Given the description of an element on the screen output the (x, y) to click on. 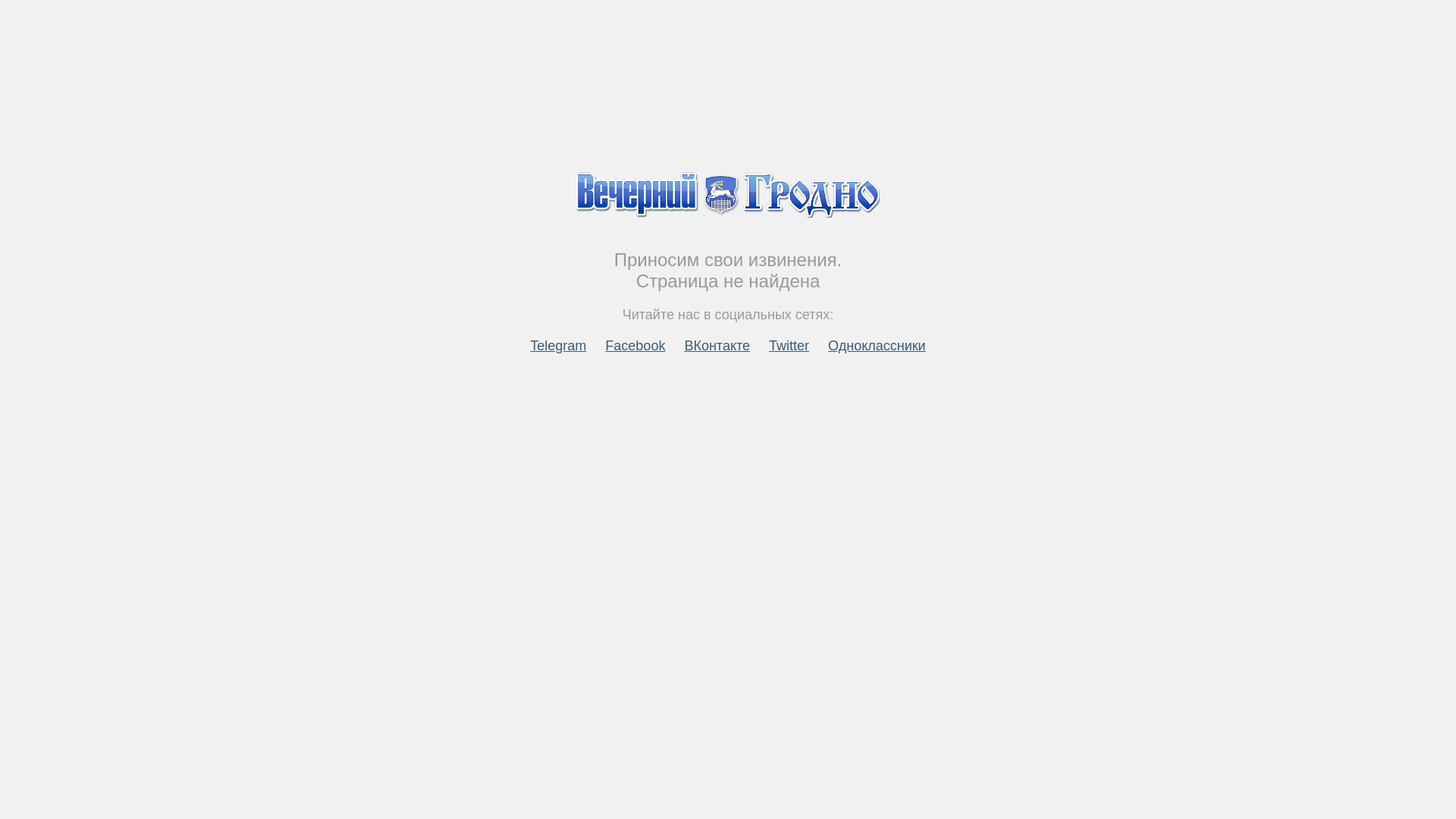
Facebook Element type: text (634, 345)
Twitter Element type: text (788, 345)
Telegram Element type: text (557, 345)
